Given the description of an element on the screen output the (x, y) to click on. 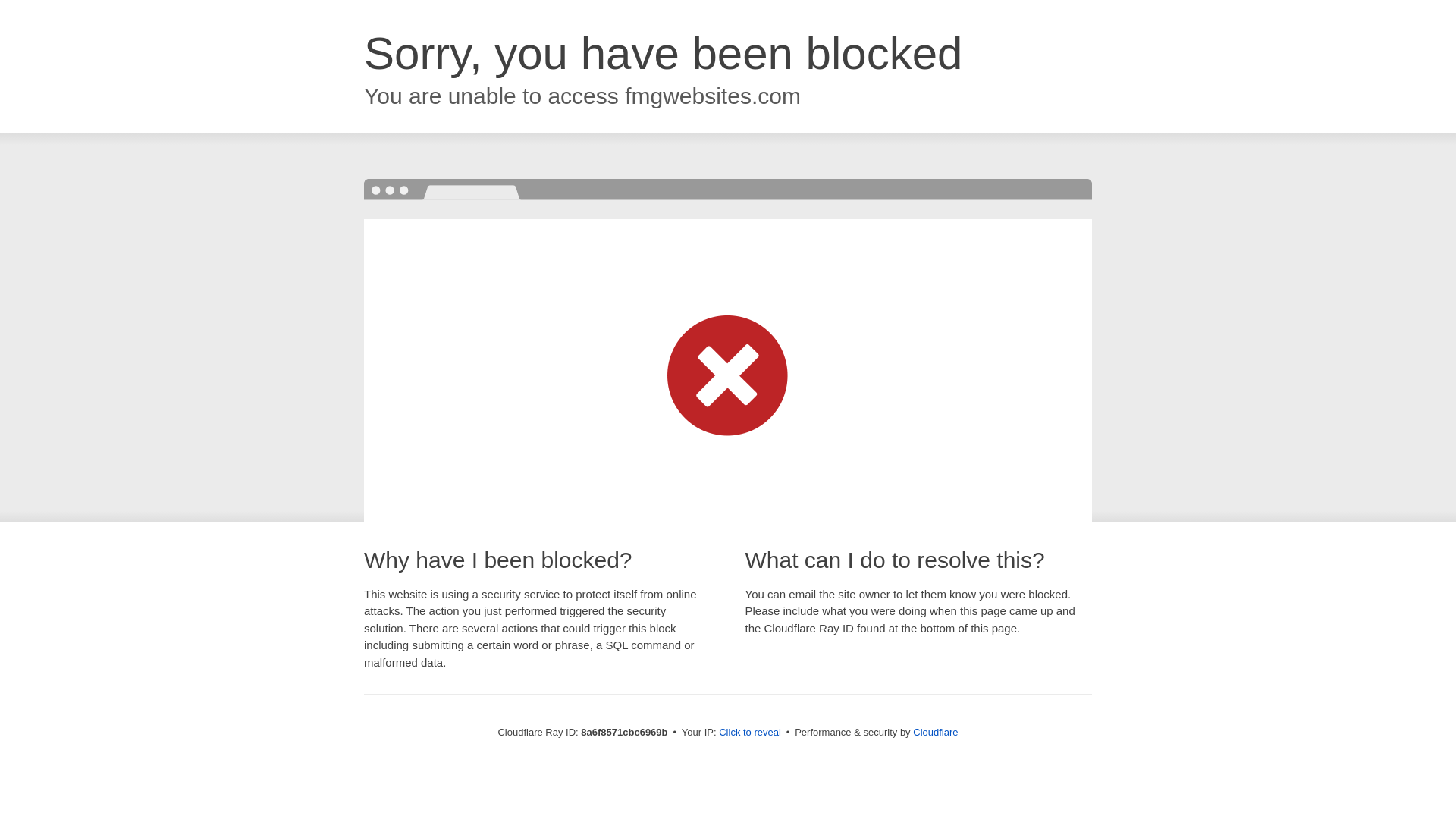
Cloudflare (935, 731)
Click to reveal (749, 732)
